Given the description of an element on the screen output the (x, y) to click on. 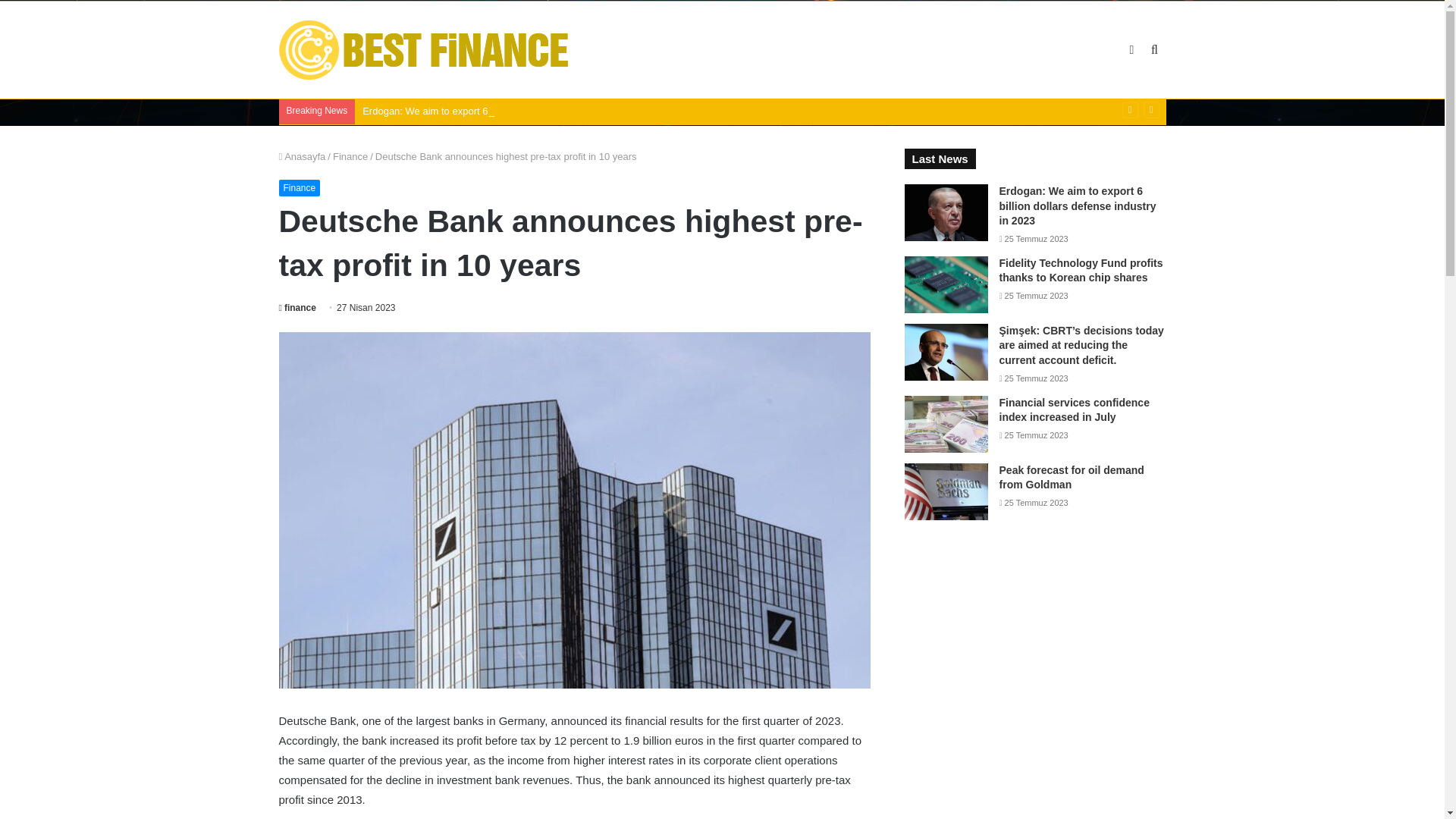
finance (297, 307)
Finance (299, 187)
Best Finance News (424, 49)
Peak forecast for oil demand from Goldman (1071, 477)
Financial services confidence index increased in July (1074, 410)
Finance (350, 156)
finance (297, 307)
